Given the description of an element on the screen output the (x, y) to click on. 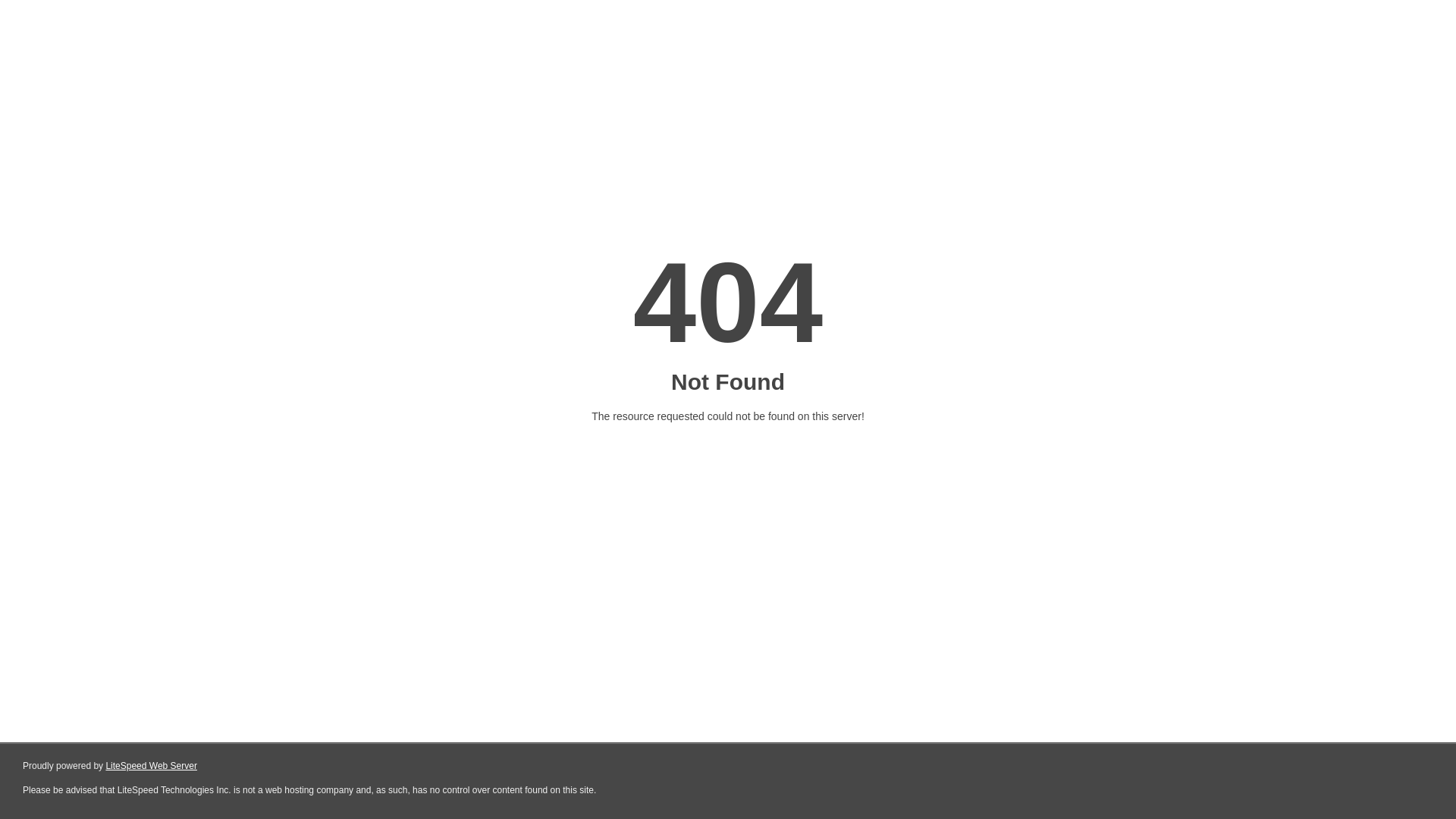
LiteSpeed Web Server Element type: text (151, 765)
